Given the description of an element on the screen output the (x, y) to click on. 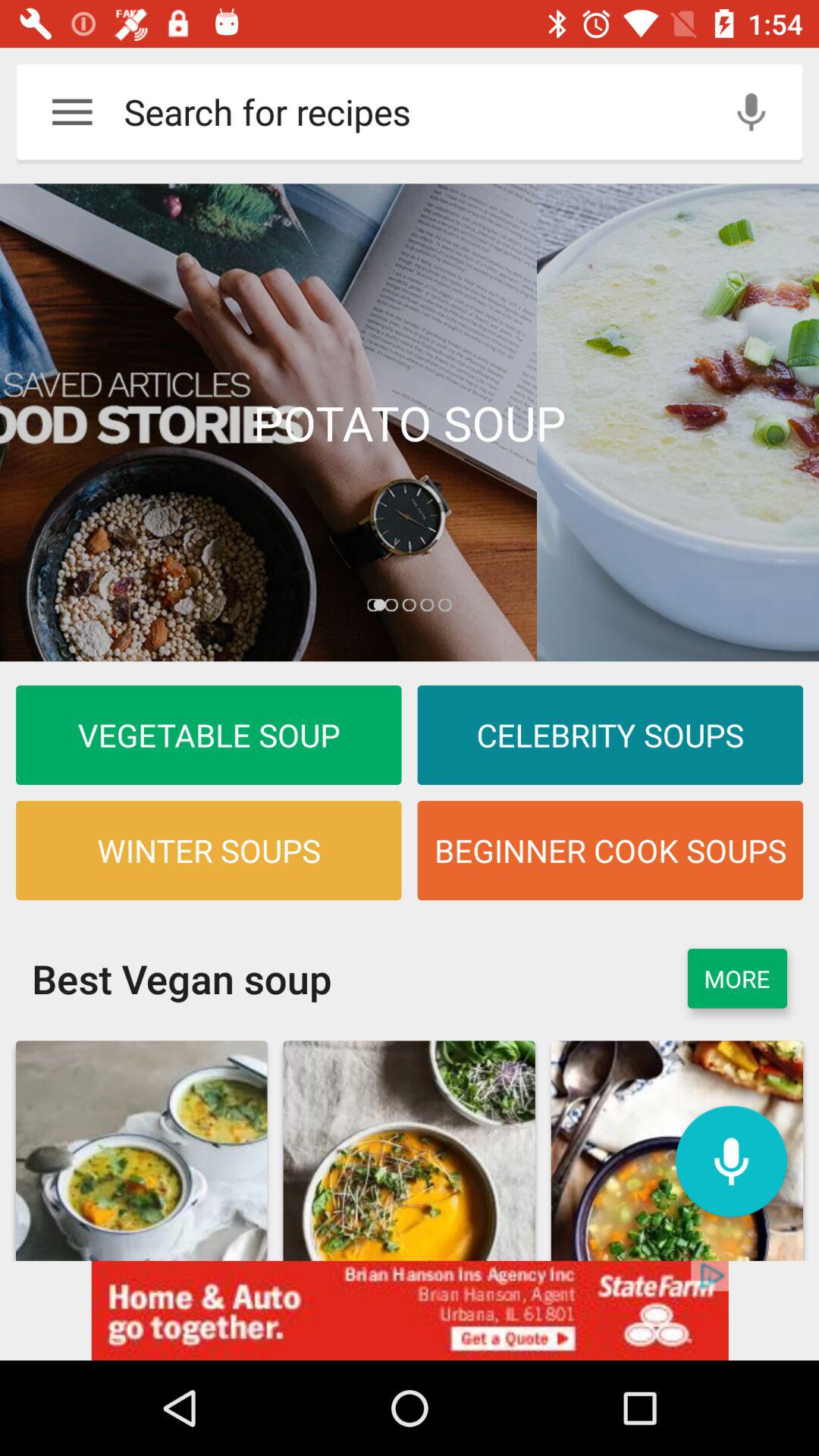
previews (409, 422)
